Given the description of an element on the screen output the (x, y) to click on. 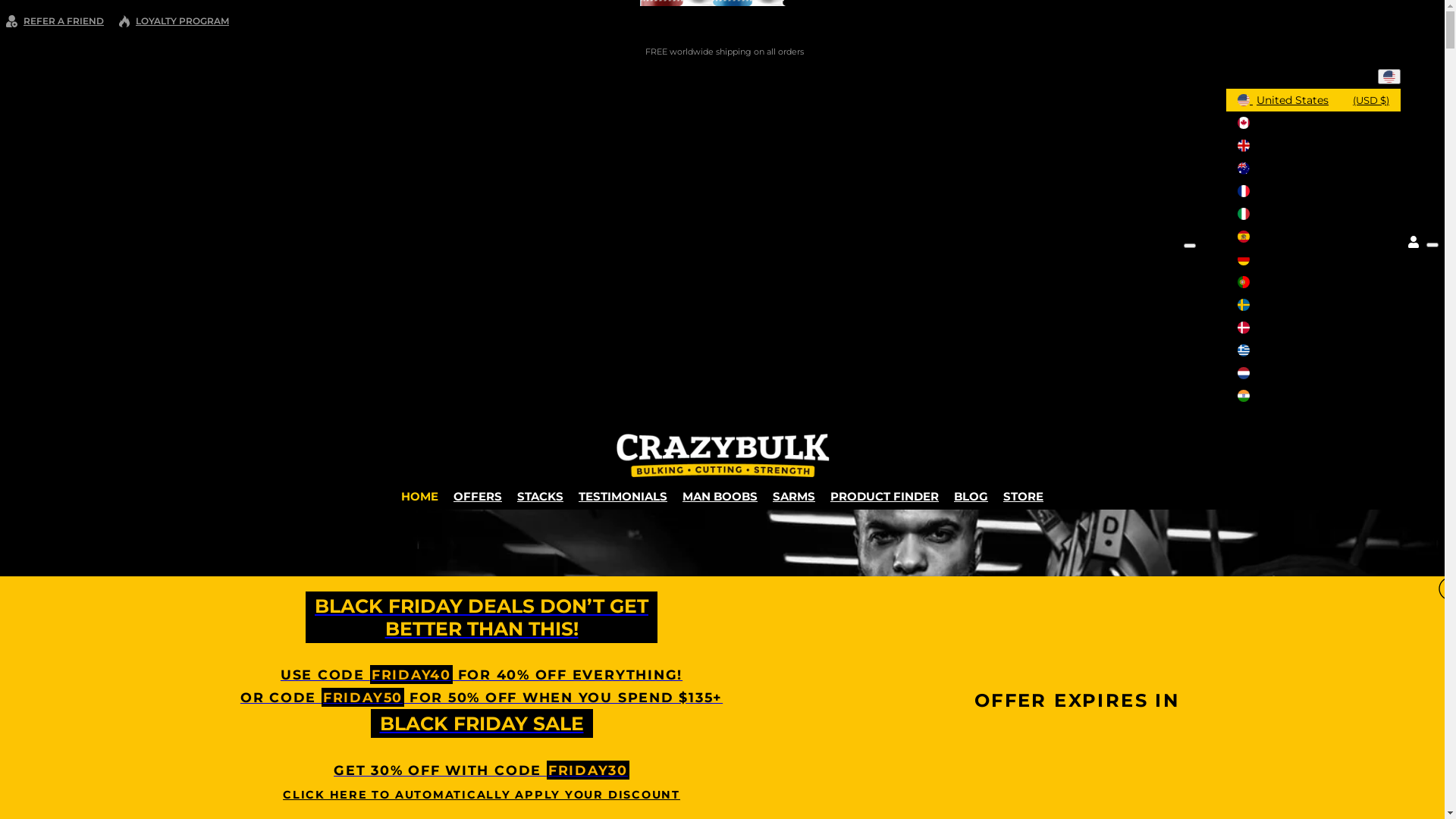
CLICK HERE TO AUTOMATICALLY APPLY YOUR DISCOUNT Element type: text (481, 794)
  United States
(USD $) Element type: text (1313, 99)
  Element type: text (1388, 76)
OFFERS Element type: text (477, 496)
STACKS Element type: text (540, 496)
Chat Element type: hover (1406, 778)
PRODUCT FINDER Element type: text (884, 496)
SARMS Element type: text (793, 496)
HOME Element type: text (419, 496)
BLOG Element type: text (970, 496)
  Sweden
(SEK kr) Element type: text (1313, 304)
TESTIMONIALS Element type: text (622, 496)
REFER A FRIEND Element type: text (54, 21)
  Denmark
(DKK kr) Element type: text (1313, 327)
  Australia
(AUD $) Element type: text (1313, 167)
MAN BOOBS Element type: text (719, 496)
  Canada
(CAD $) Element type: text (1313, 122)
LOYALTY PROGRAM Element type: text (174, 21)
STORE Element type: text (1023, 496)
